Given the description of an element on the screen output the (x, y) to click on. 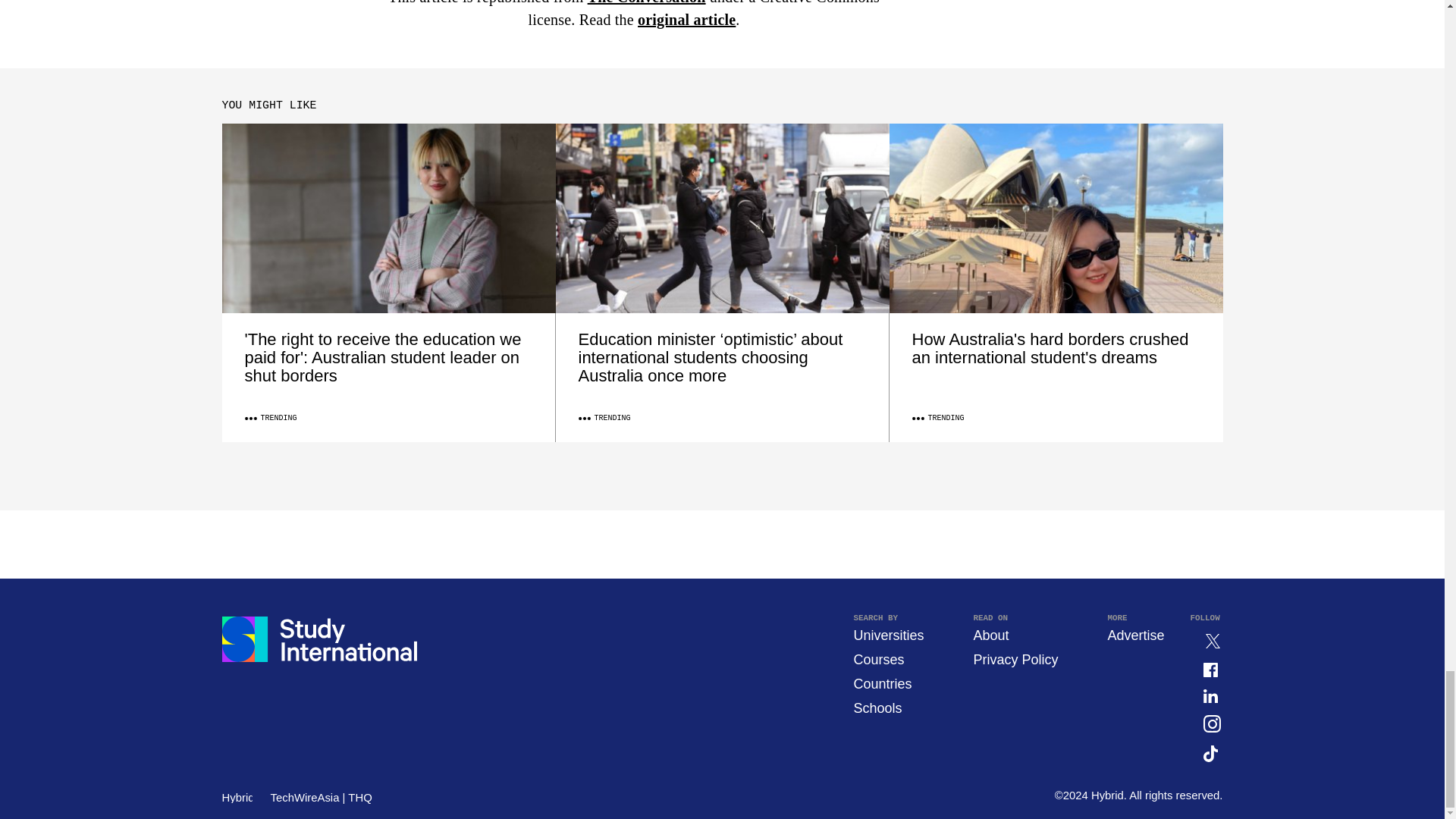
The Conversation (647, 2)
original article (686, 19)
